Given the description of an element on the screen output the (x, y) to click on. 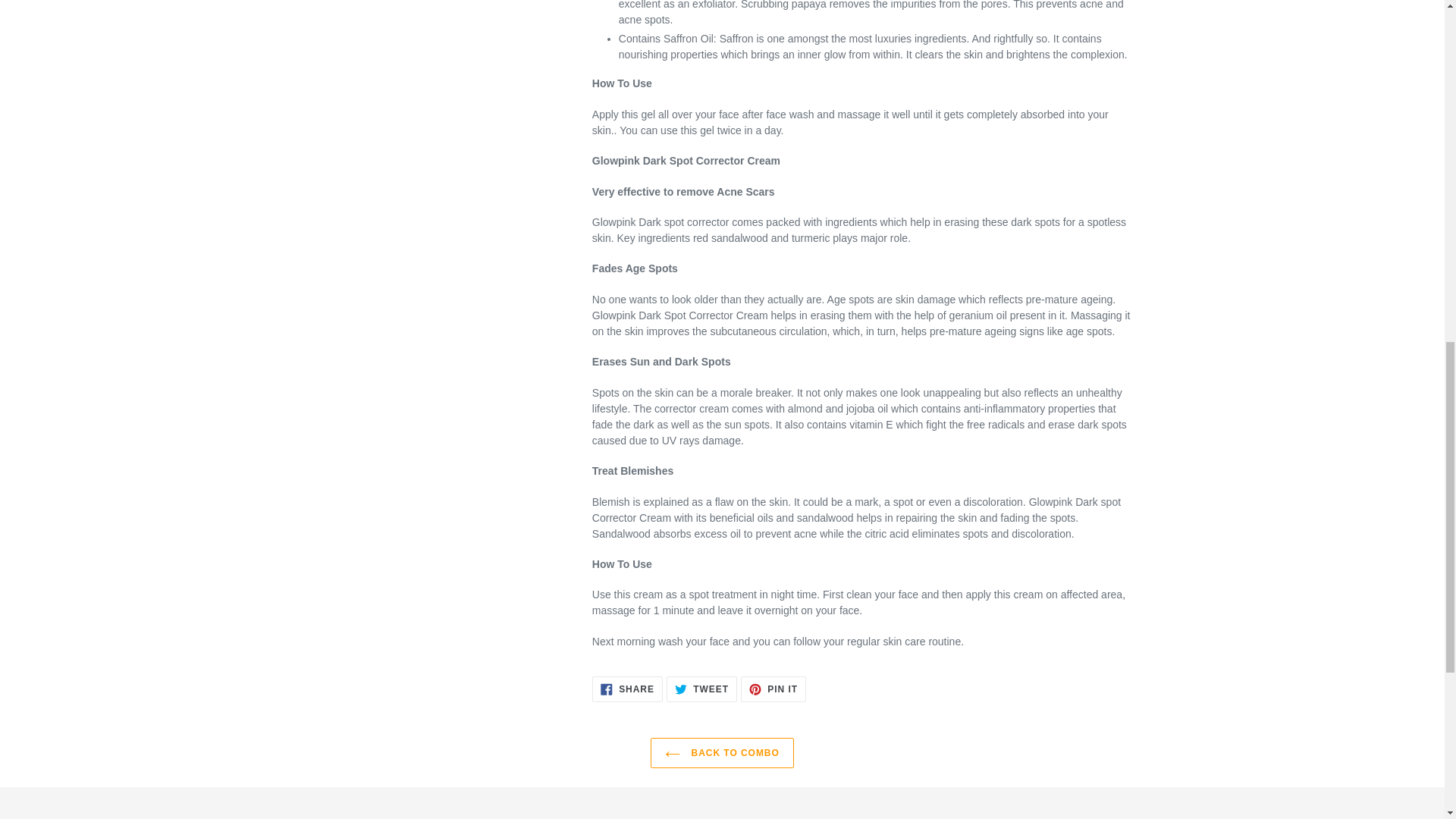
BACK TO COMBO (701, 688)
